Given the description of an element on the screen output the (x, y) to click on. 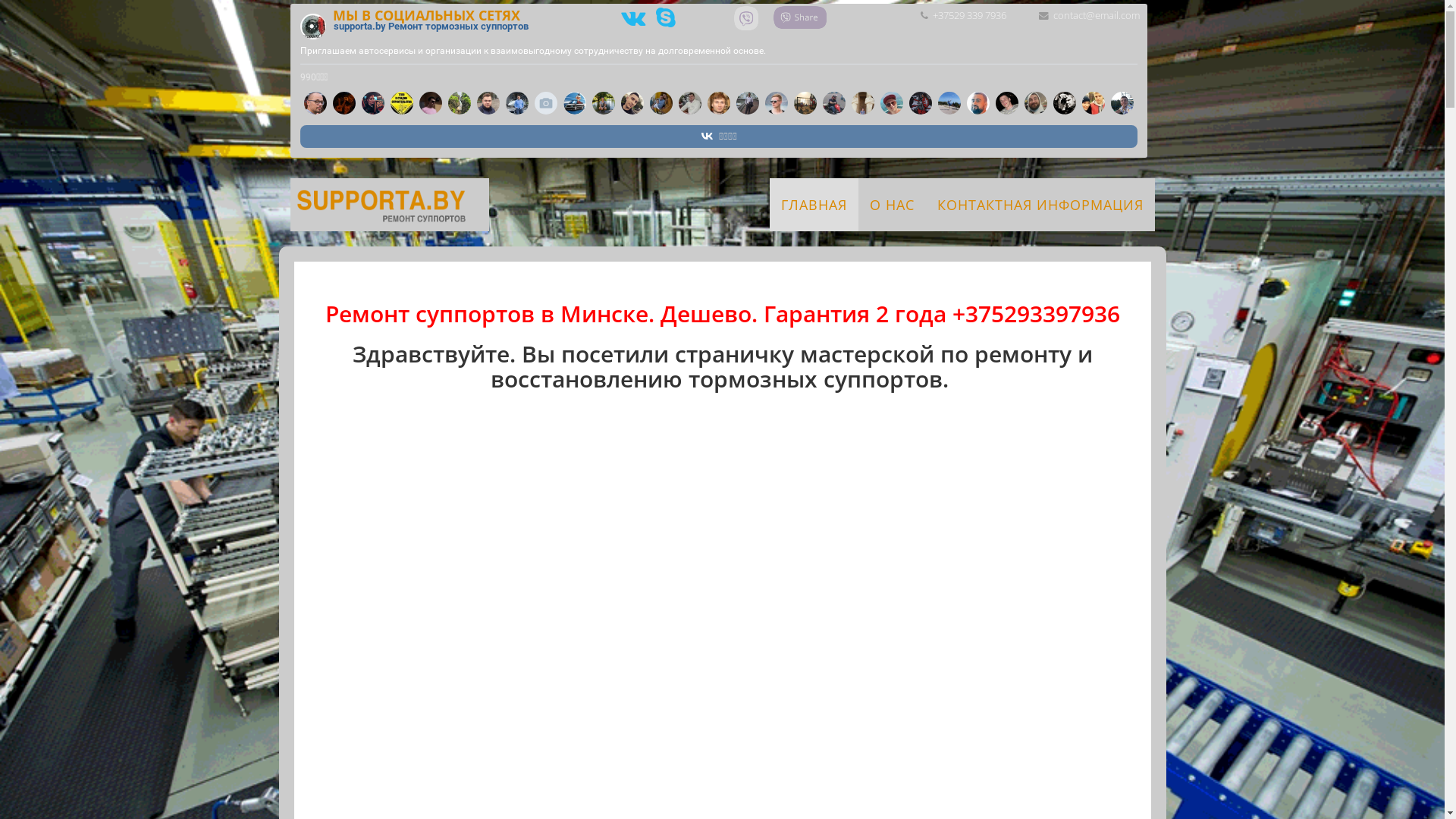
contact@email.com Element type: text (1095, 15)
+37529 339 7936 Element type: text (969, 15)
